Given the description of an element on the screen output the (x, y) to click on. 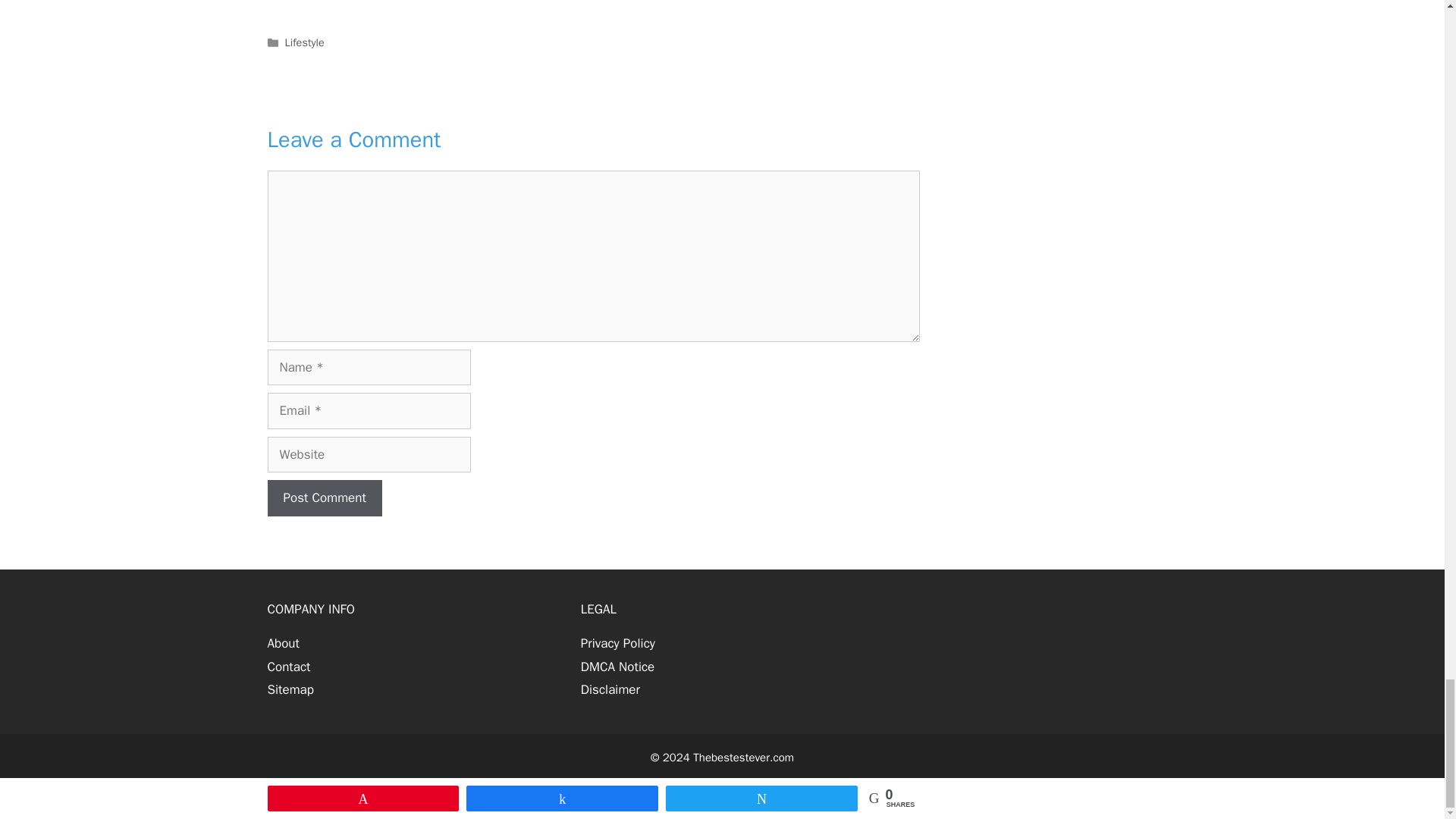
Post Comment (323, 497)
